Given the description of an element on the screen output the (x, y) to click on. 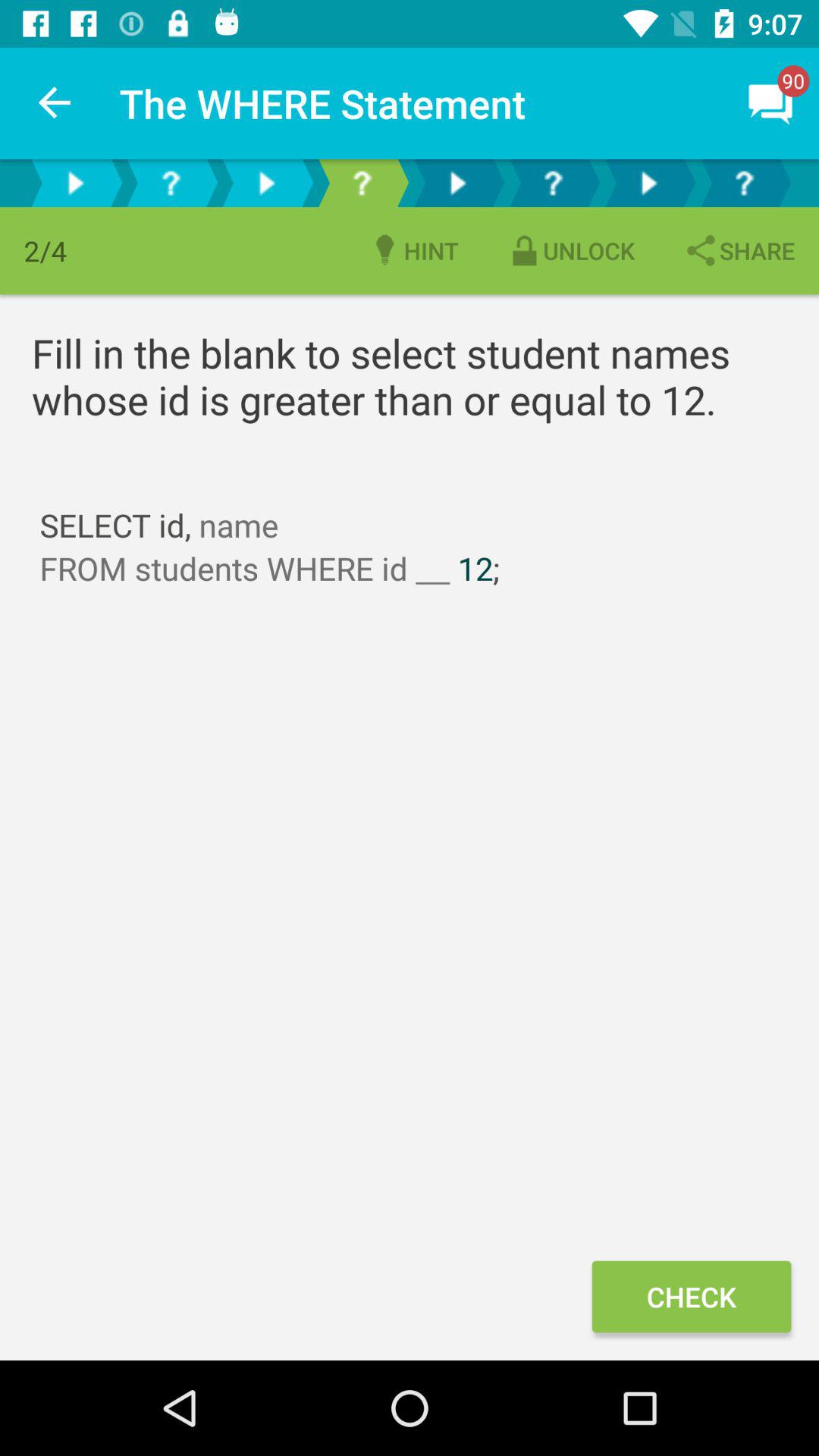
play content (457, 183)
